Given the description of an element on the screen output the (x, y) to click on. 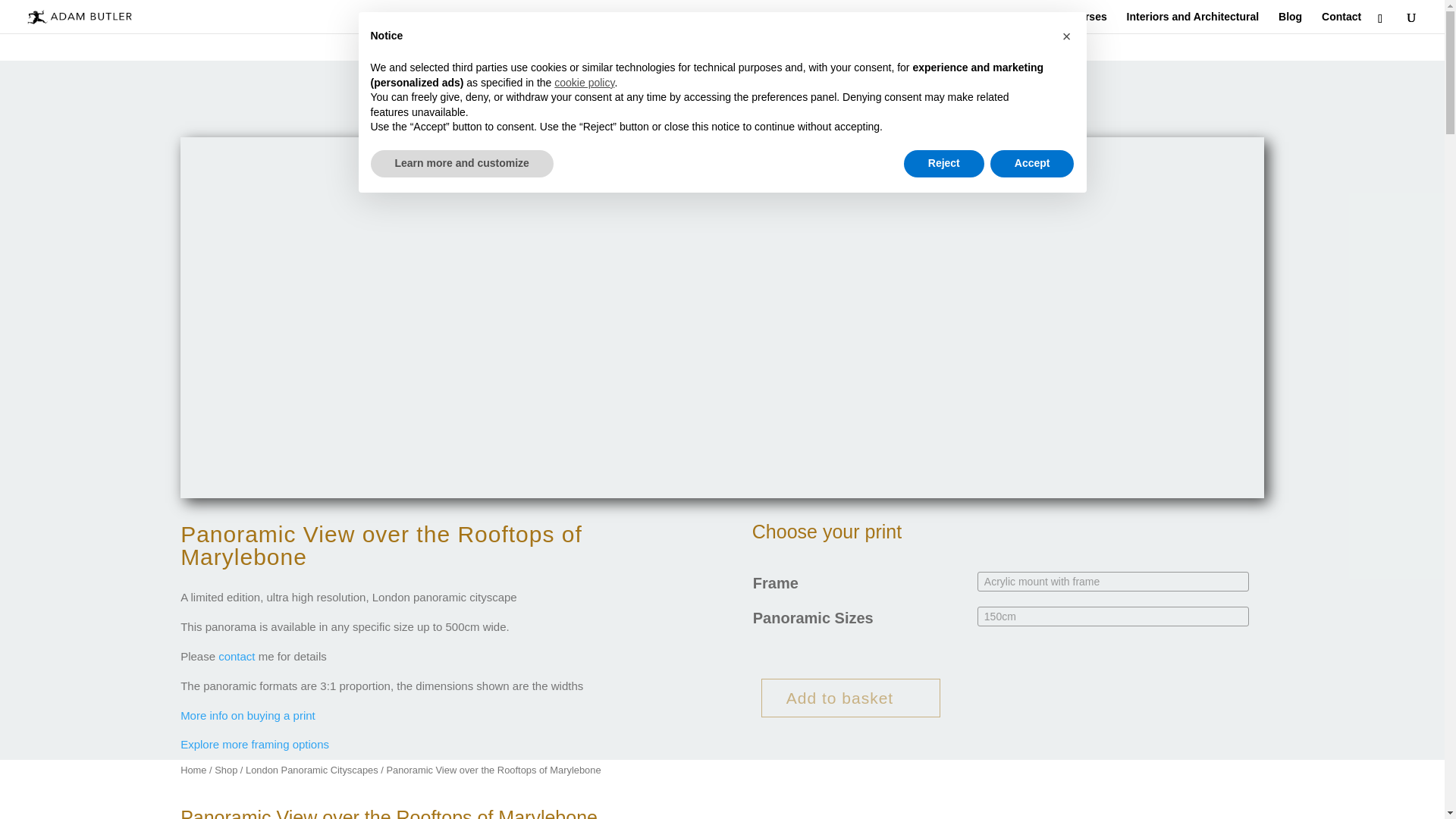
Shop (225, 769)
Home (193, 769)
contact (236, 656)
Courses (1085, 22)
London Panoramic Cityscapes (312, 769)
Explore more framing options (254, 744)
Interiors and Architectural (1192, 22)
Add to basket (850, 697)
Buy Prints (1018, 22)
More info on buying a print (247, 715)
